Given the description of an element on the screen output the (x, y) to click on. 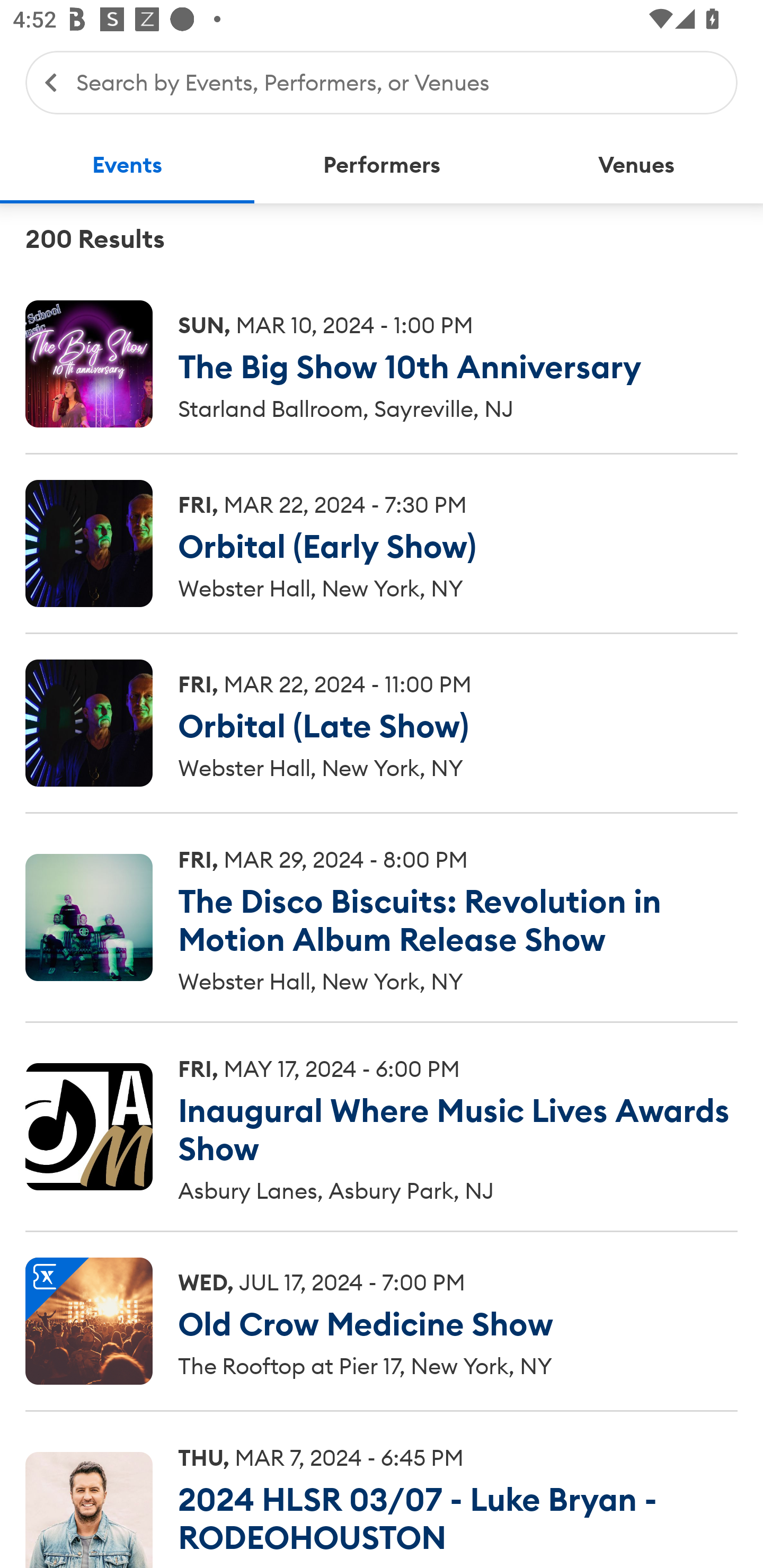
Performers (381, 165)
Venues (635, 165)
